Given the description of an element on the screen output the (x, y) to click on. 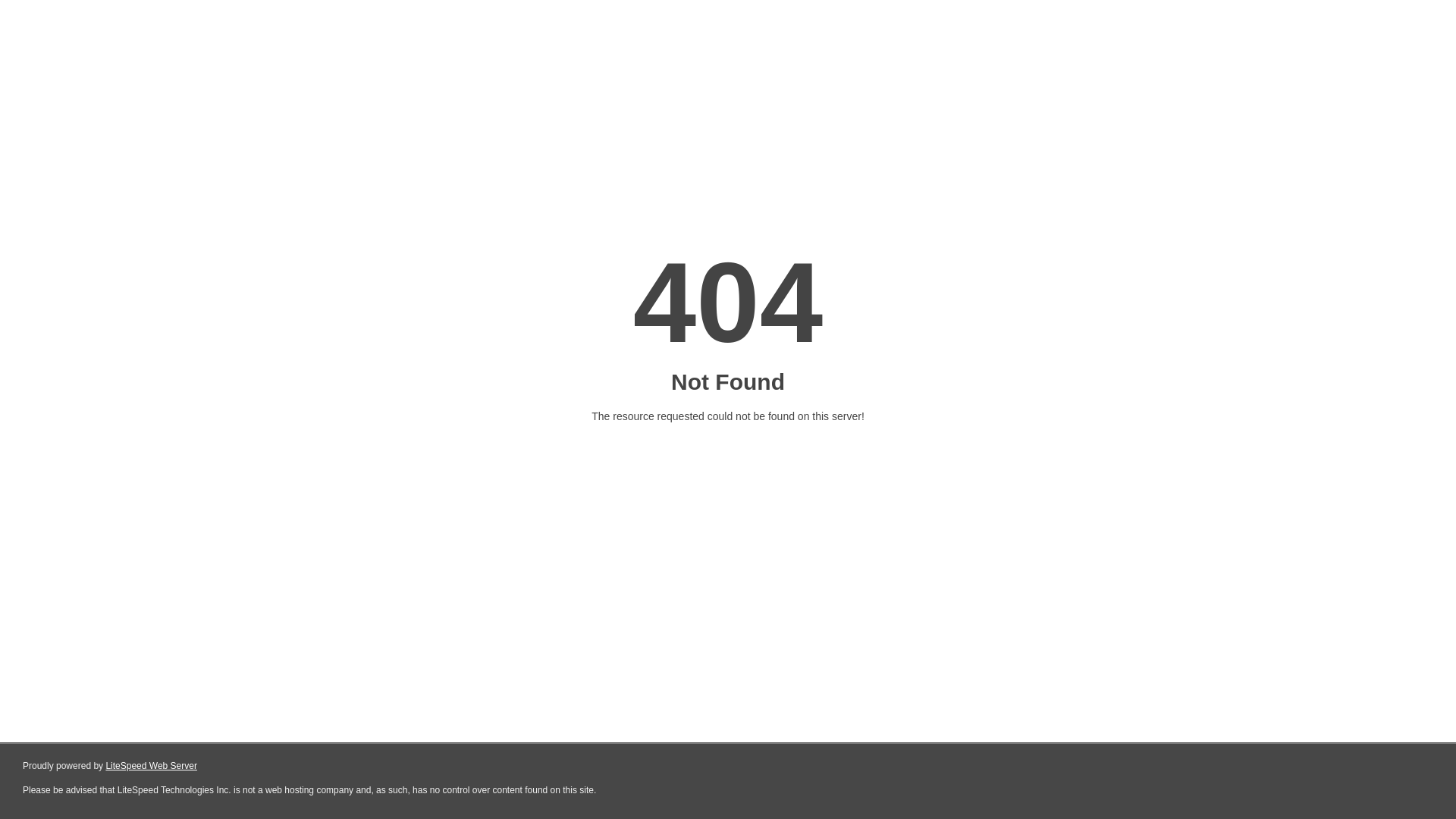
LiteSpeed Web Server Element type: text (151, 765)
